Given the description of an element on the screen output the (x, y) to click on. 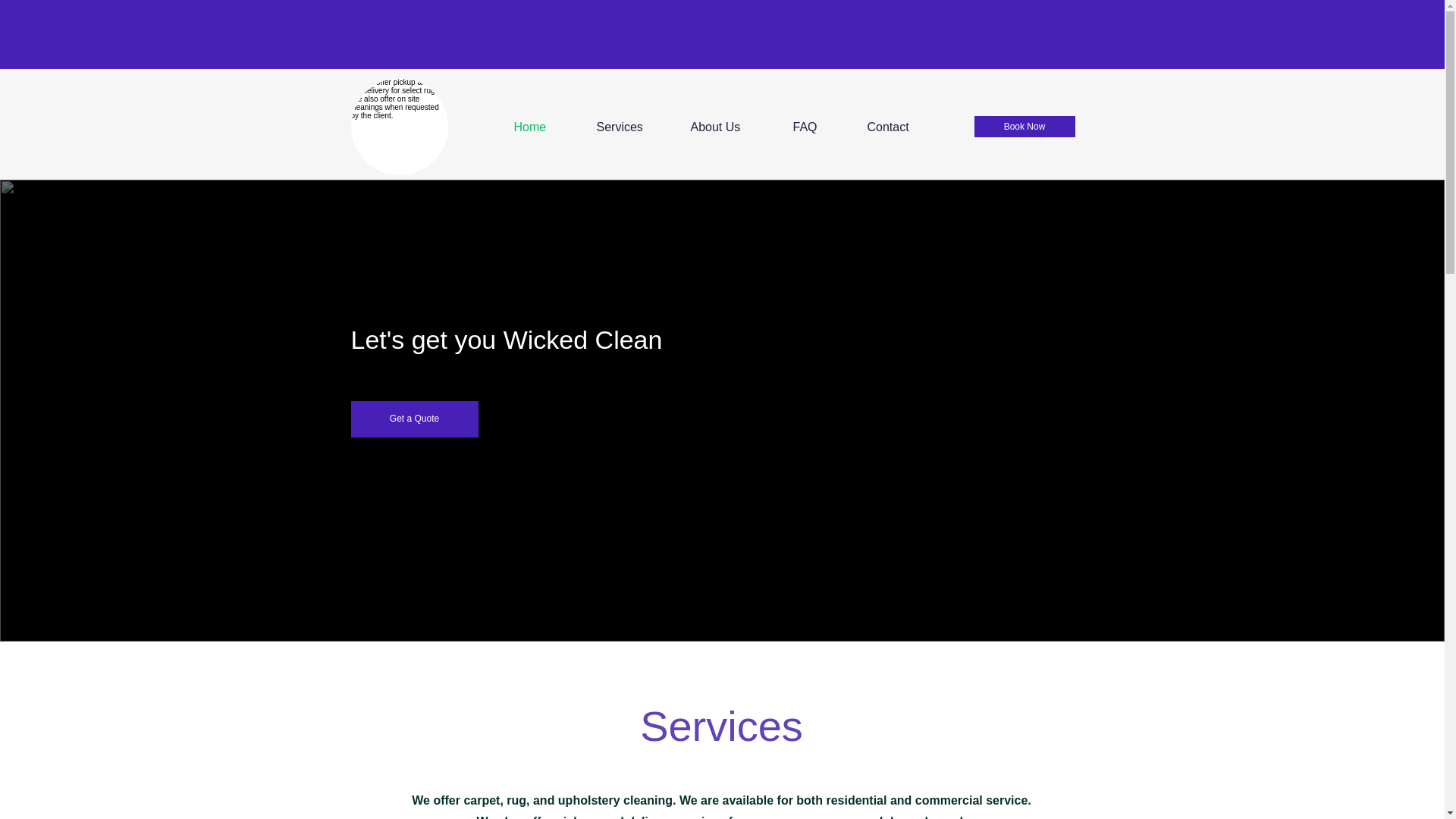
Services (632, 127)
Contact (902, 127)
Get a Quote (413, 419)
FAQ (818, 127)
Home (543, 127)
Book Now (1024, 126)
About Us (730, 127)
